Given the description of an element on the screen output the (x, y) to click on. 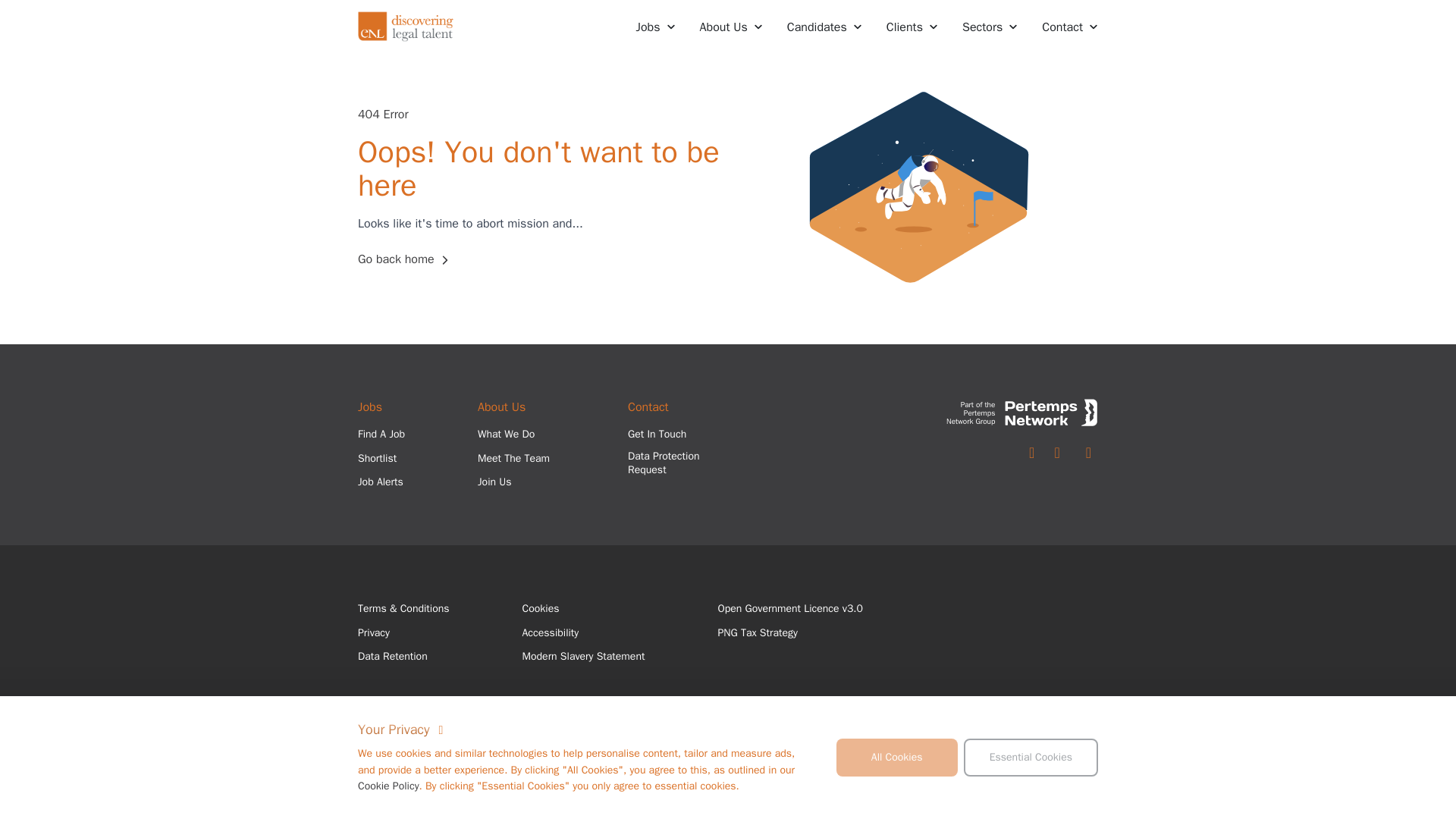
Cookie Policy (388, 786)
Sectors (989, 27)
Open About Us dropdown (731, 27)
About Us (731, 27)
Clients (911, 27)
Open Sectors dropdown (989, 27)
Accept All Cookies (896, 757)
Essential Cookies (1030, 757)
Open Candidates dropdown (824, 27)
All Cookies (896, 757)
Contact (1069, 27)
Accept Essential Cookies (1030, 757)
Home (406, 27)
Open Contact dropdown (1069, 27)
Candidates (824, 27)
